Given the description of an element on the screen output the (x, y) to click on. 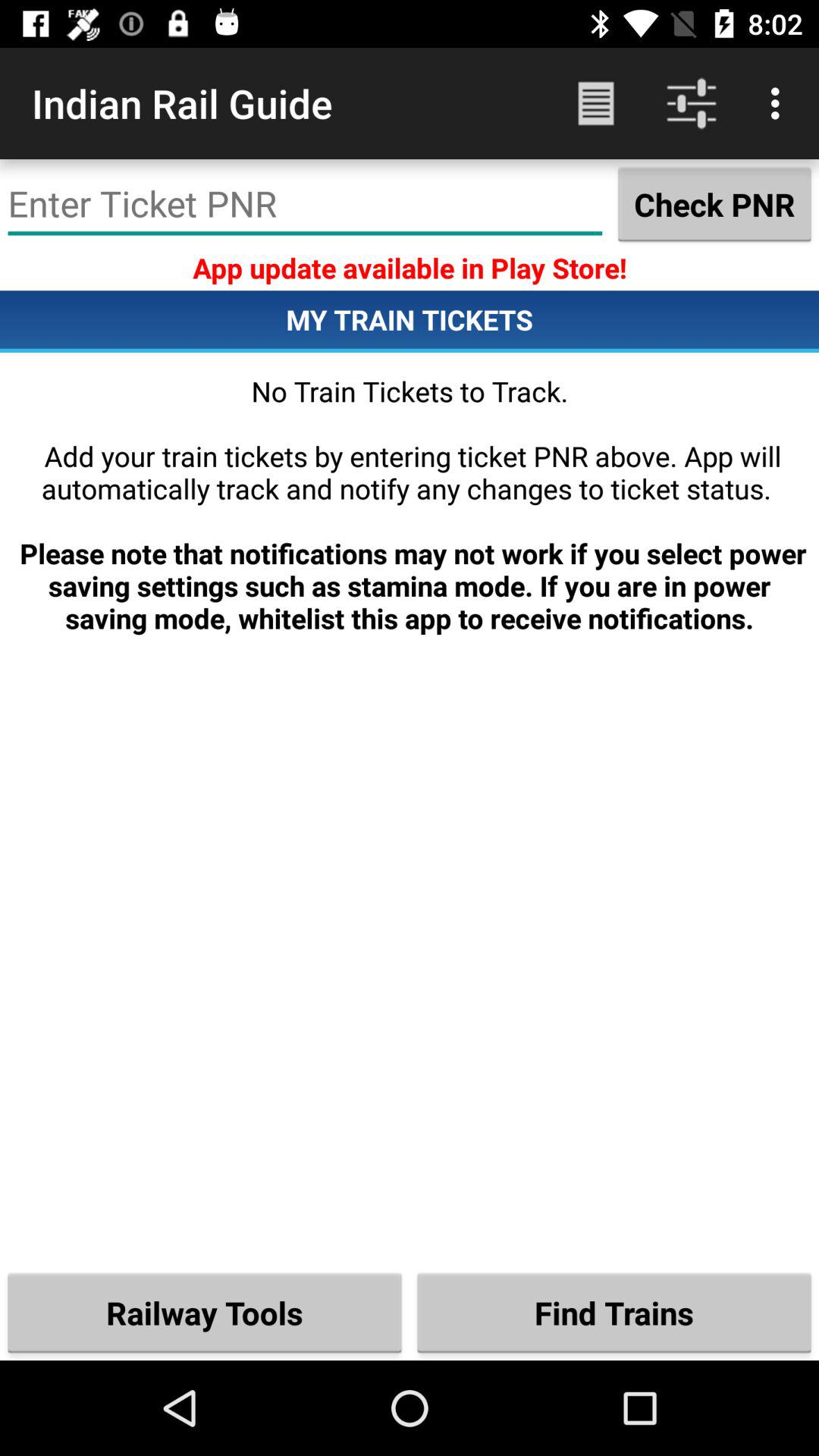
click the find trains (614, 1312)
